Given the description of an element on the screen output the (x, y) to click on. 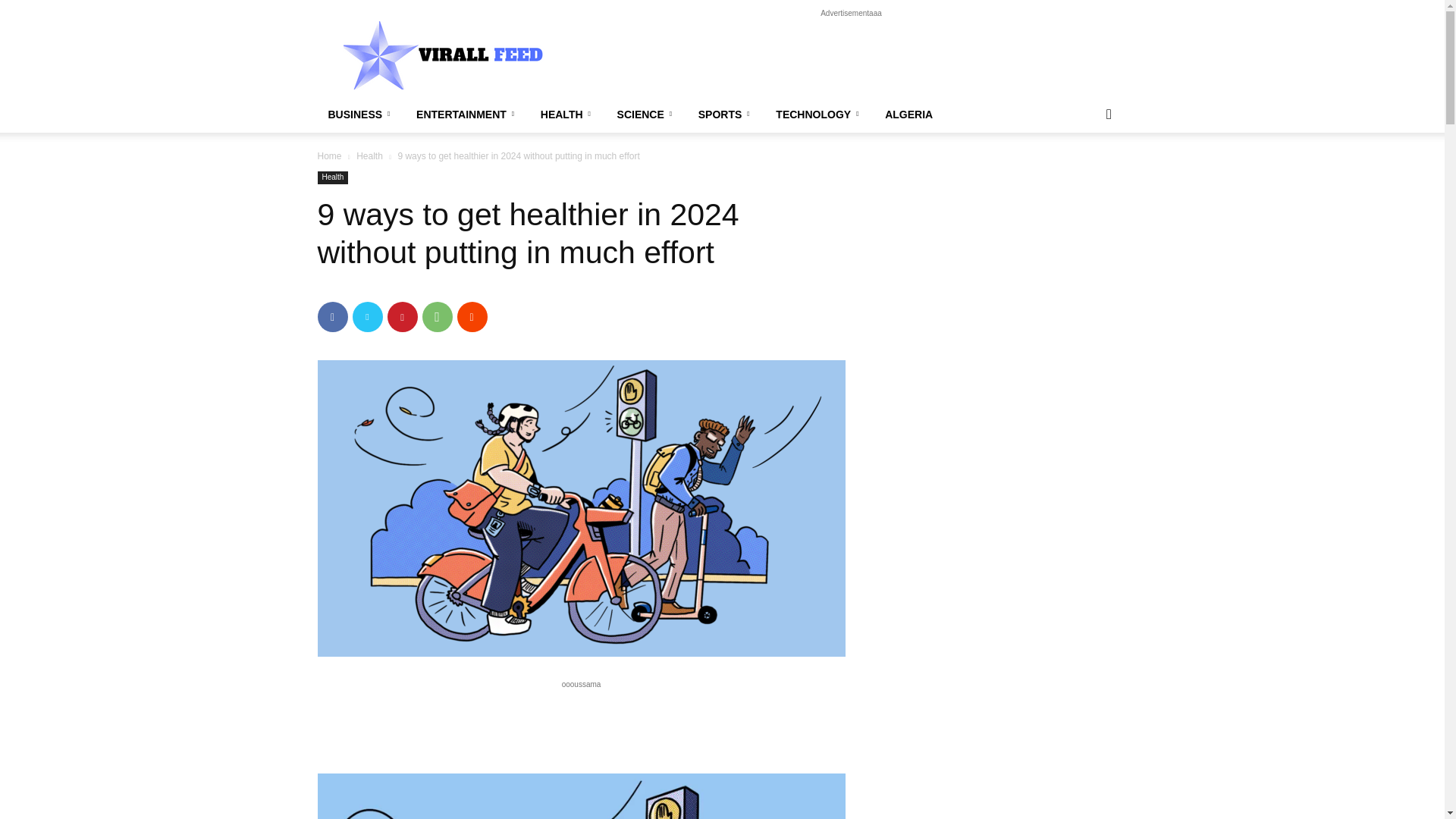
ENTERTAINMENT (467, 114)
Advertisement (850, 55)
BUSINESS (361, 114)
virallfeed (445, 55)
